Given the description of an element on the screen output the (x, y) to click on. 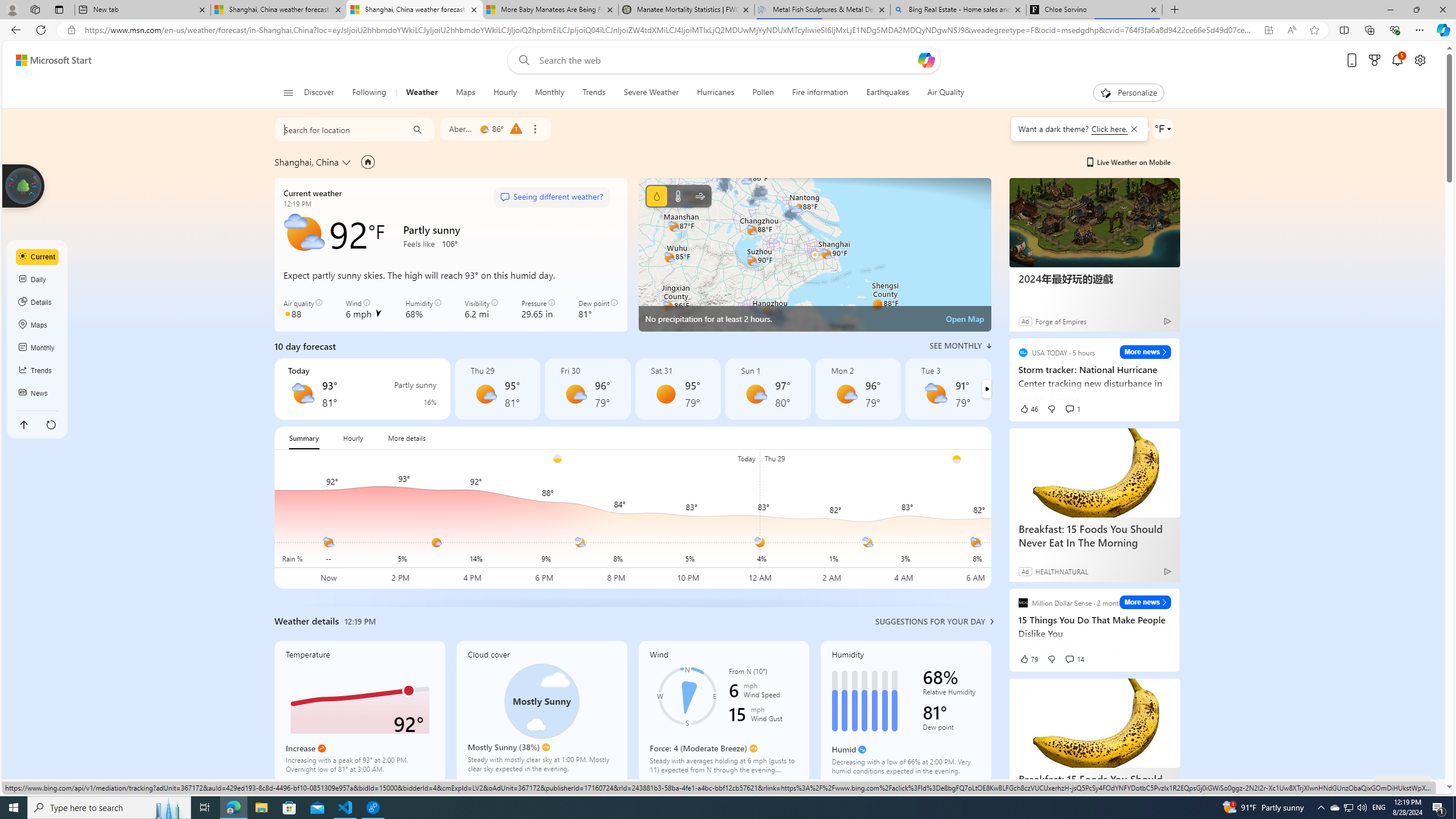
Visibility 6.2 mi (480, 309)
Mostly sunny (845, 393)
Refresh this page (50, 424)
Add this page to favorites (Ctrl+D) (1314, 29)
Open Copilot (926, 59)
Open navigation menu (287, 92)
Aberdeen (461, 129)
Monthly (37, 347)
Web search (520, 60)
Dew point (951, 728)
Fire information (820, 92)
Breakfast: 15 Foods You Should Never Eat In The Morning (1093, 785)
Temperature (359, 711)
